Given the description of an element on the screen output the (x, y) to click on. 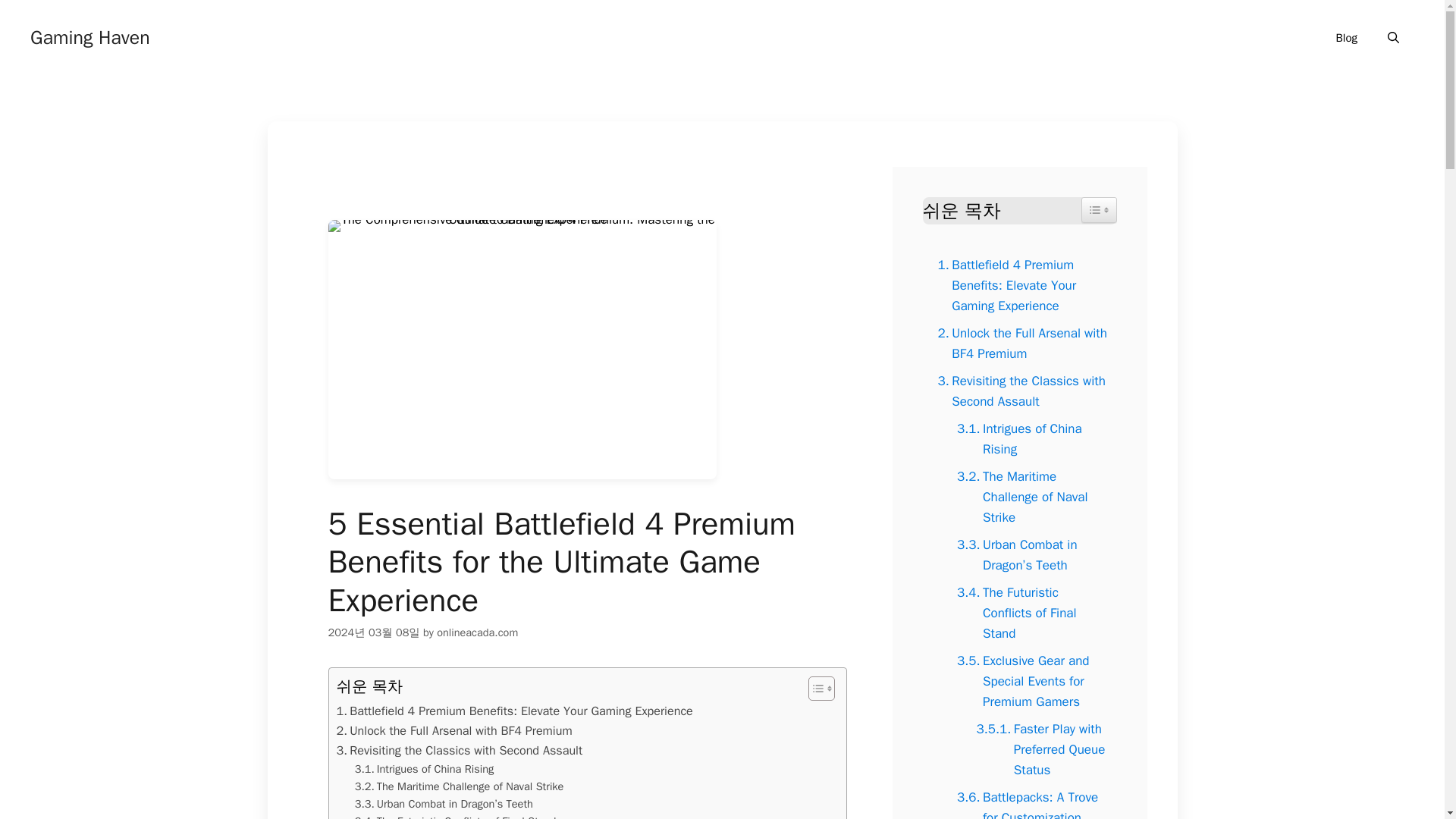
Blog (1346, 37)
Revisiting the Classics with Second Assault (459, 750)
Unlock the Full Arsenal with BF4 Premium (454, 731)
onlineacada.com (477, 632)
Revisiting the Classics with Second Assault (459, 750)
Unlock the Full Arsenal with BF4 Premium (454, 731)
Intrigues of China Rising (425, 769)
Toggle Table of Content (1098, 209)
Intrigues of China Rising (425, 769)
Gaming Haven (89, 37)
The Maritime Challenge of Naval Strike (459, 786)
The Maritime Challenge of Naval Strike (459, 786)
View all posts by onlineacada.com (477, 632)
